Given the description of an element on the screen output the (x, y) to click on. 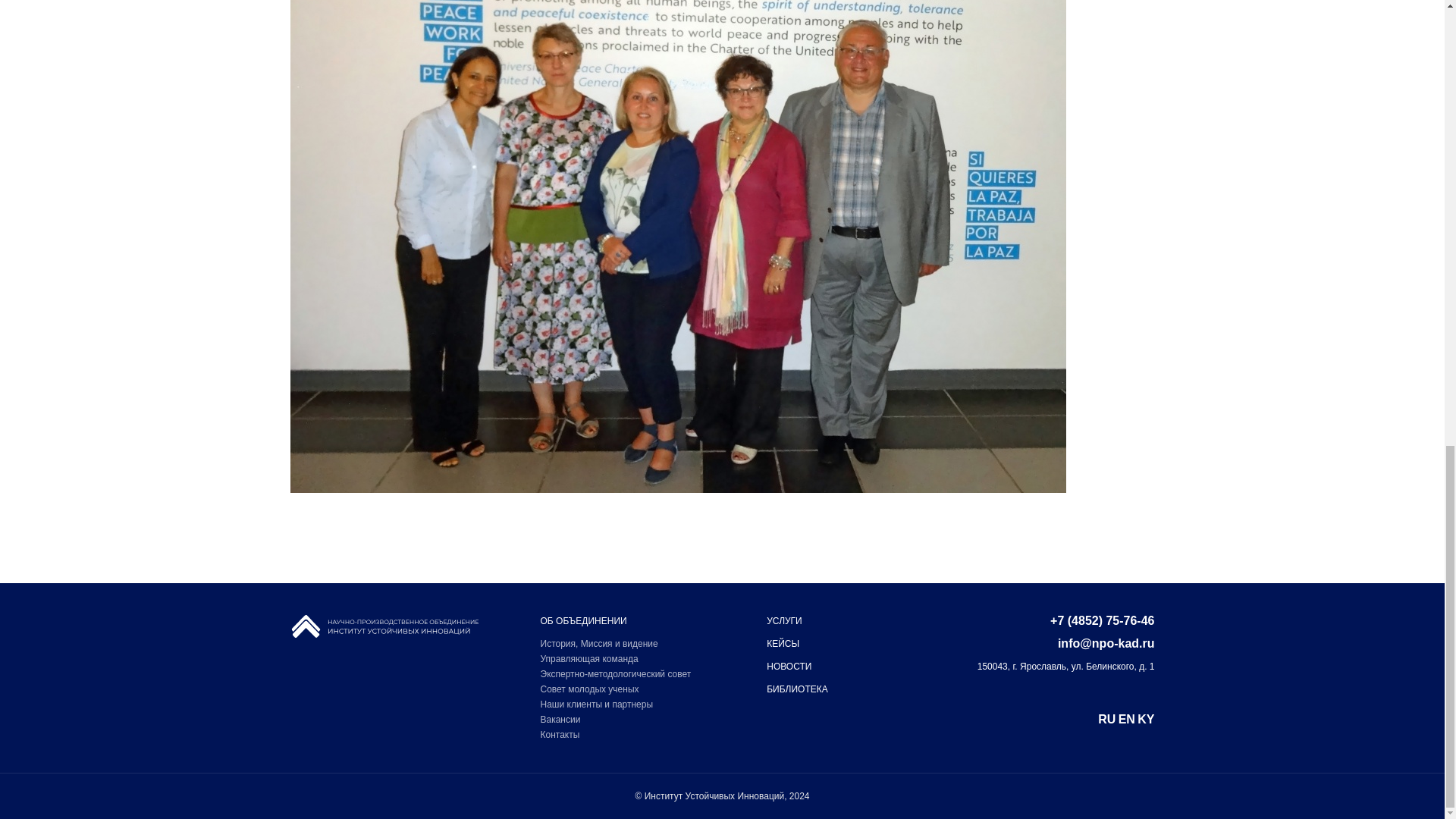
KY (1145, 719)
RU (1106, 719)
EN (1126, 719)
English (1126, 719)
